Given the description of an element on the screen output the (x, y) to click on. 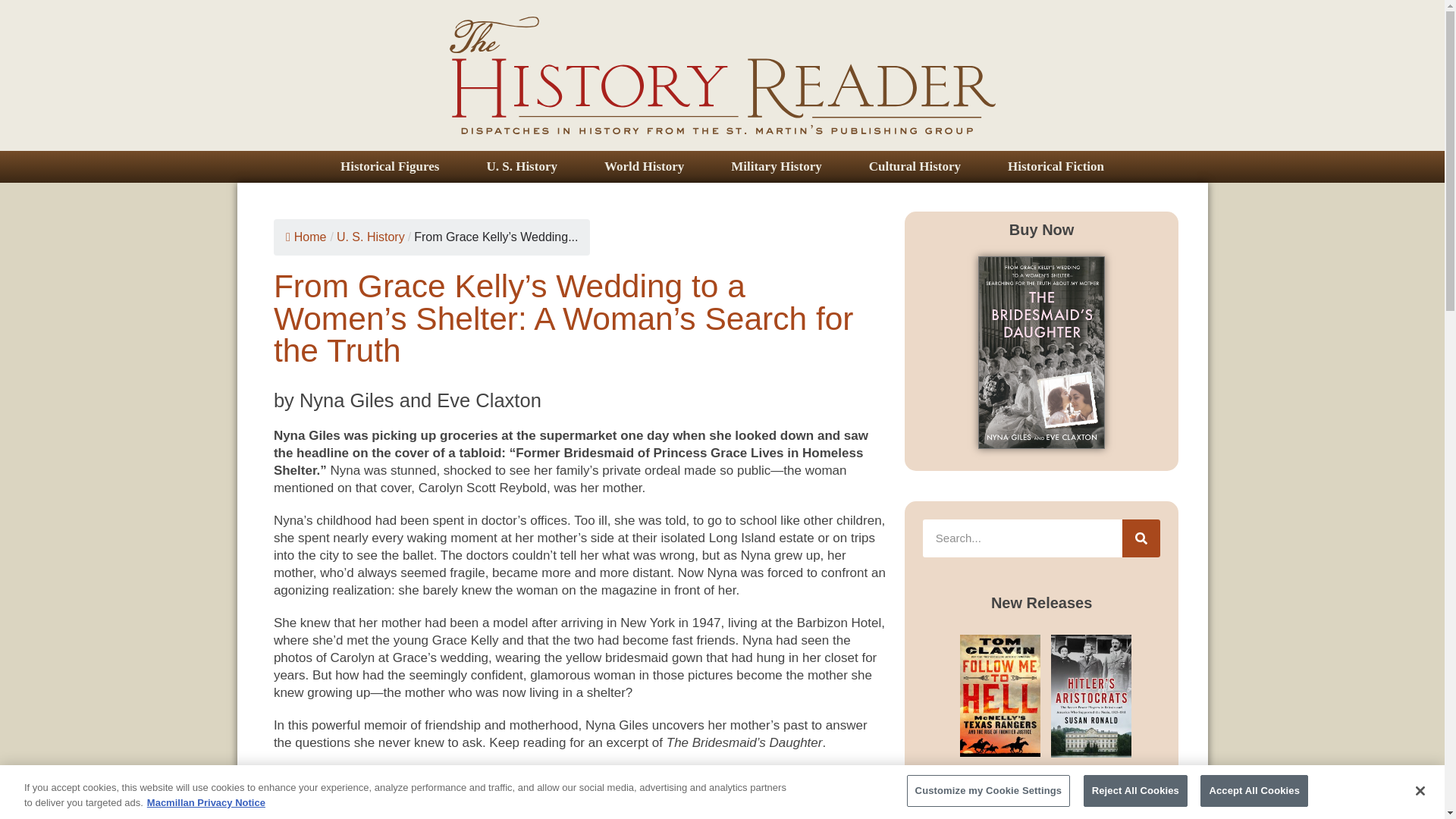
Category Name (370, 236)
World History (643, 166)
the dirty tricks (981, 792)
Historical Fiction (1055, 166)
sniper jim lindsay (1101, 792)
Historical Figures (390, 166)
U. S. History (370, 236)
Cultural History (914, 166)
U. S. History (521, 166)
Home (305, 236)
Military History (775, 166)
